Given the description of an element on the screen output the (x, y) to click on. 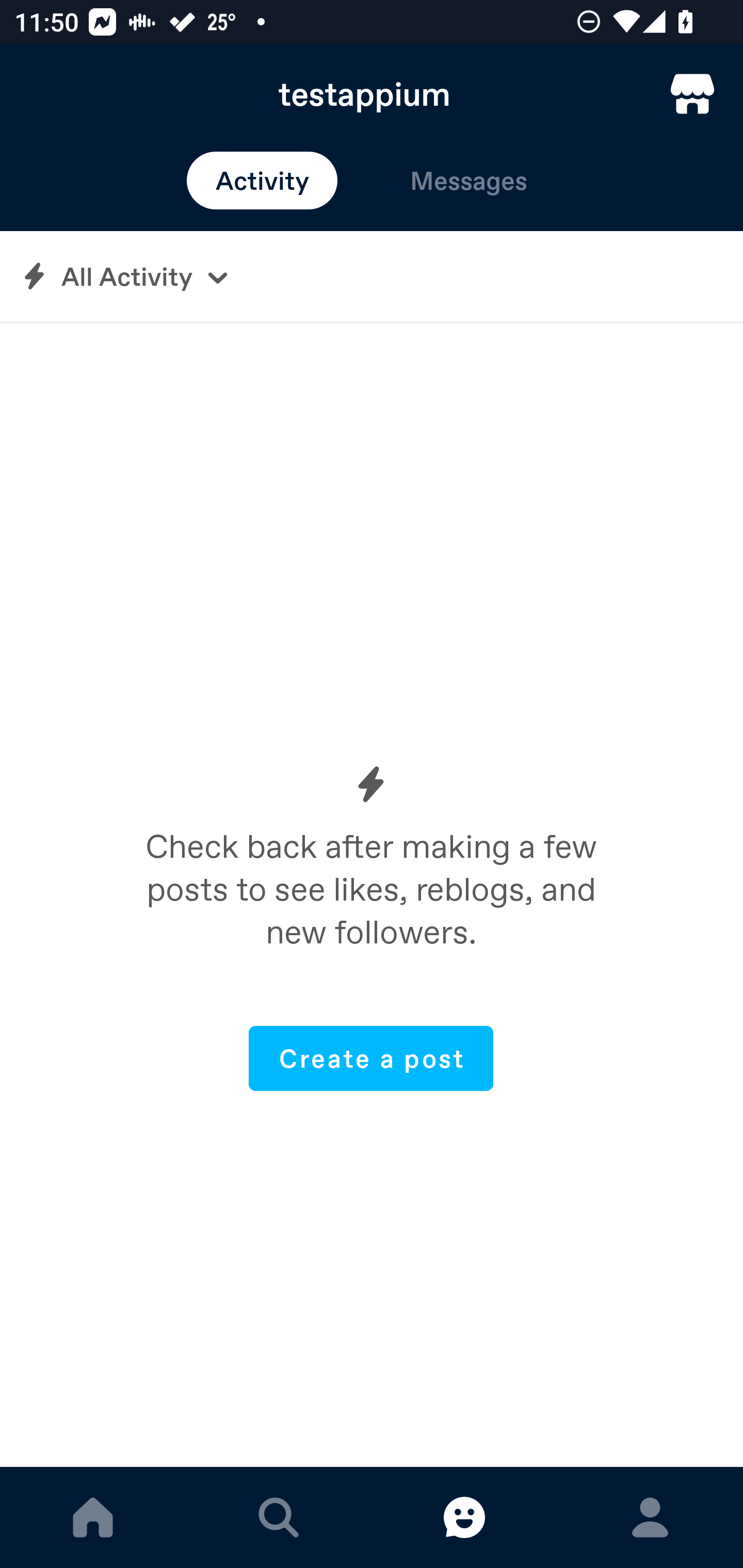
testappium (371, 93)
TumblrMart (692, 94)
Messages Messages Messages (468, 181)
All Activity (371, 276)
Create a post (370, 1058)
DASHBOARD (92, 1517)
EXPLORE (278, 1517)
MESSAGES (464, 1517)
ACCOUNT (650, 1517)
